Given the description of an element on the screen output the (x, y) to click on. 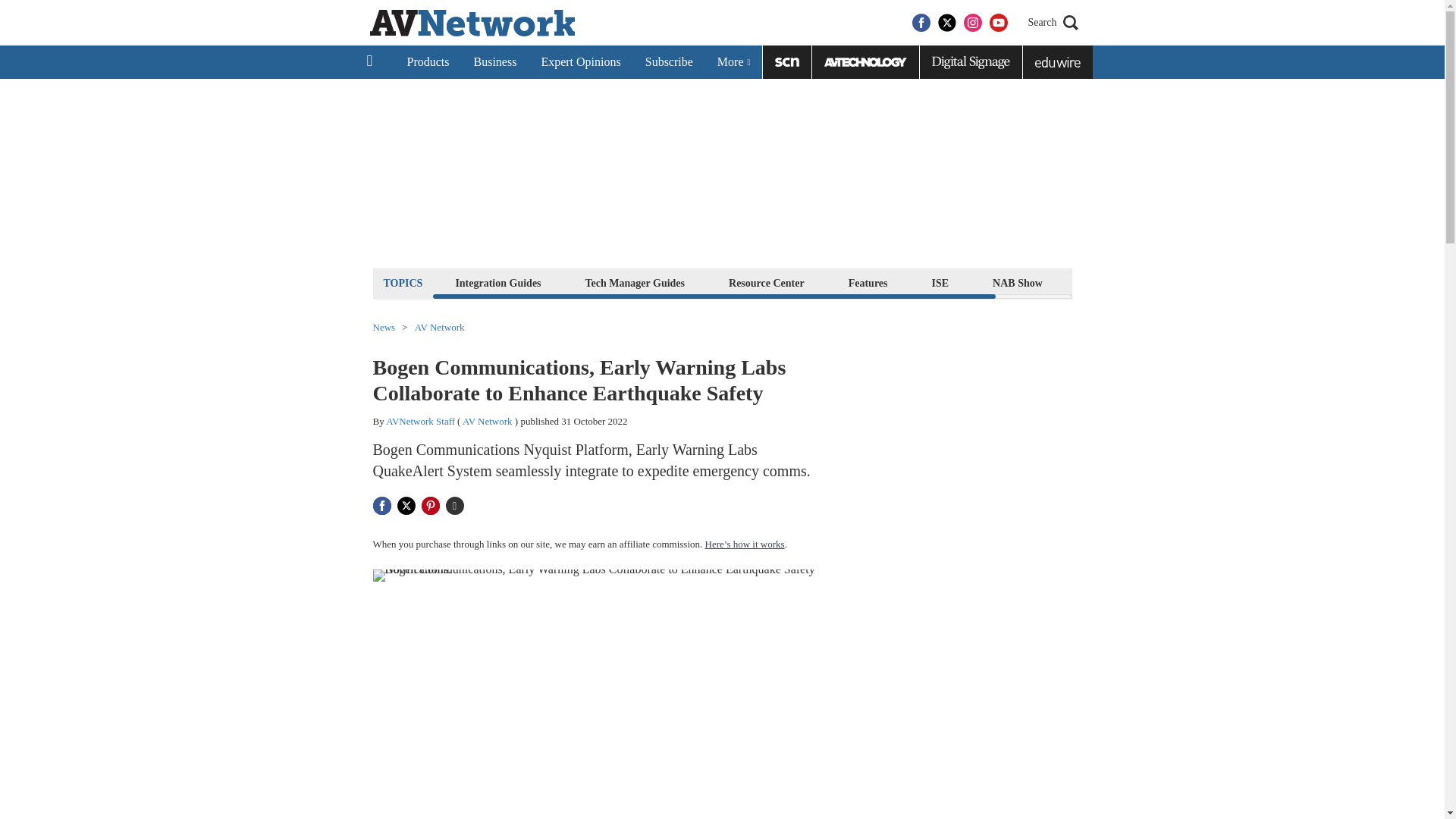
Expert Opinions (579, 61)
AVNetwork Staff (419, 420)
Integration Guides (497, 282)
AV Network (487, 420)
Subscribe (668, 61)
AV Network (439, 327)
Business (494, 61)
ISE (940, 282)
Resource Center (766, 282)
NAB Show (1017, 282)
Features (868, 282)
InfoComm (1111, 282)
Tech Manager Guides (634, 282)
Products (427, 61)
